Given the description of an element on the screen output the (x, y) to click on. 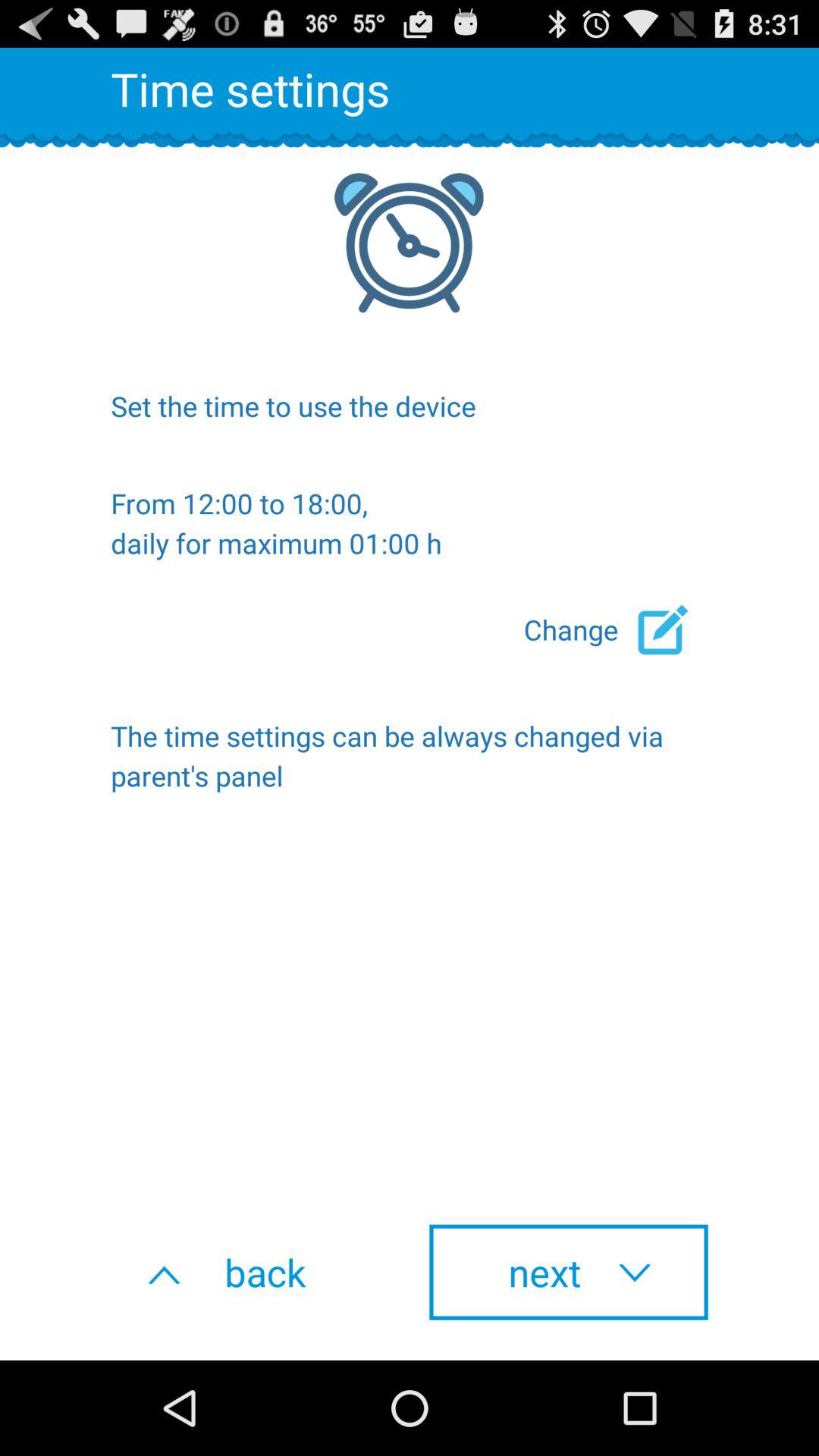
flip until the back (249, 1272)
